Given the description of an element on the screen output the (x, y) to click on. 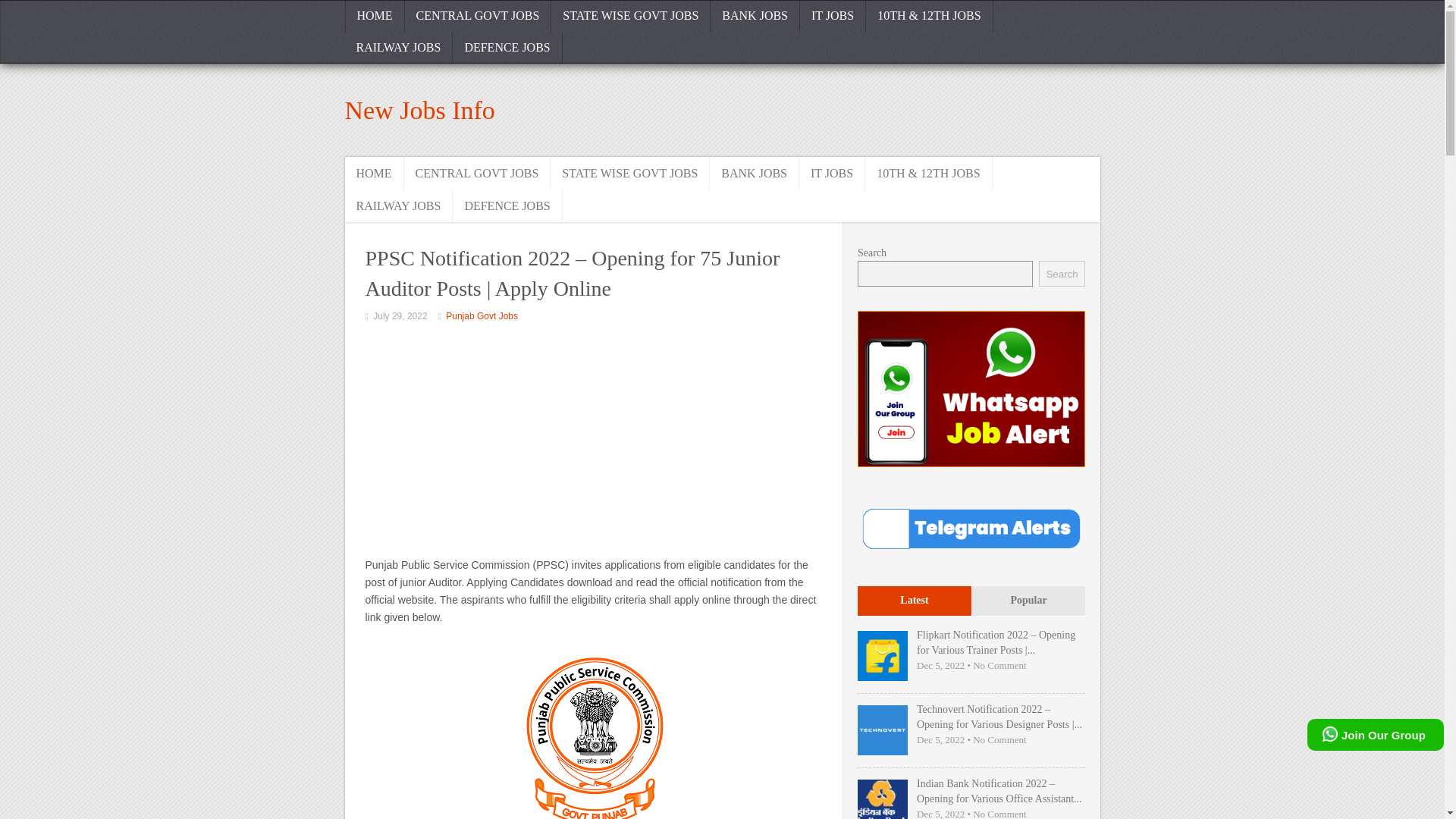
DEFENCE JOBS (507, 205)
New Jobs Info (419, 110)
Advertisement (593, 442)
HOME (373, 15)
RAILWAY JOBS (397, 47)
Punjab Govt Jobs (481, 316)
Latest (914, 601)
HOME (373, 173)
STATE WISE GOVT JOBS (630, 173)
Join Our Group (1375, 735)
